Given the description of an element on the screen output the (x, y) to click on. 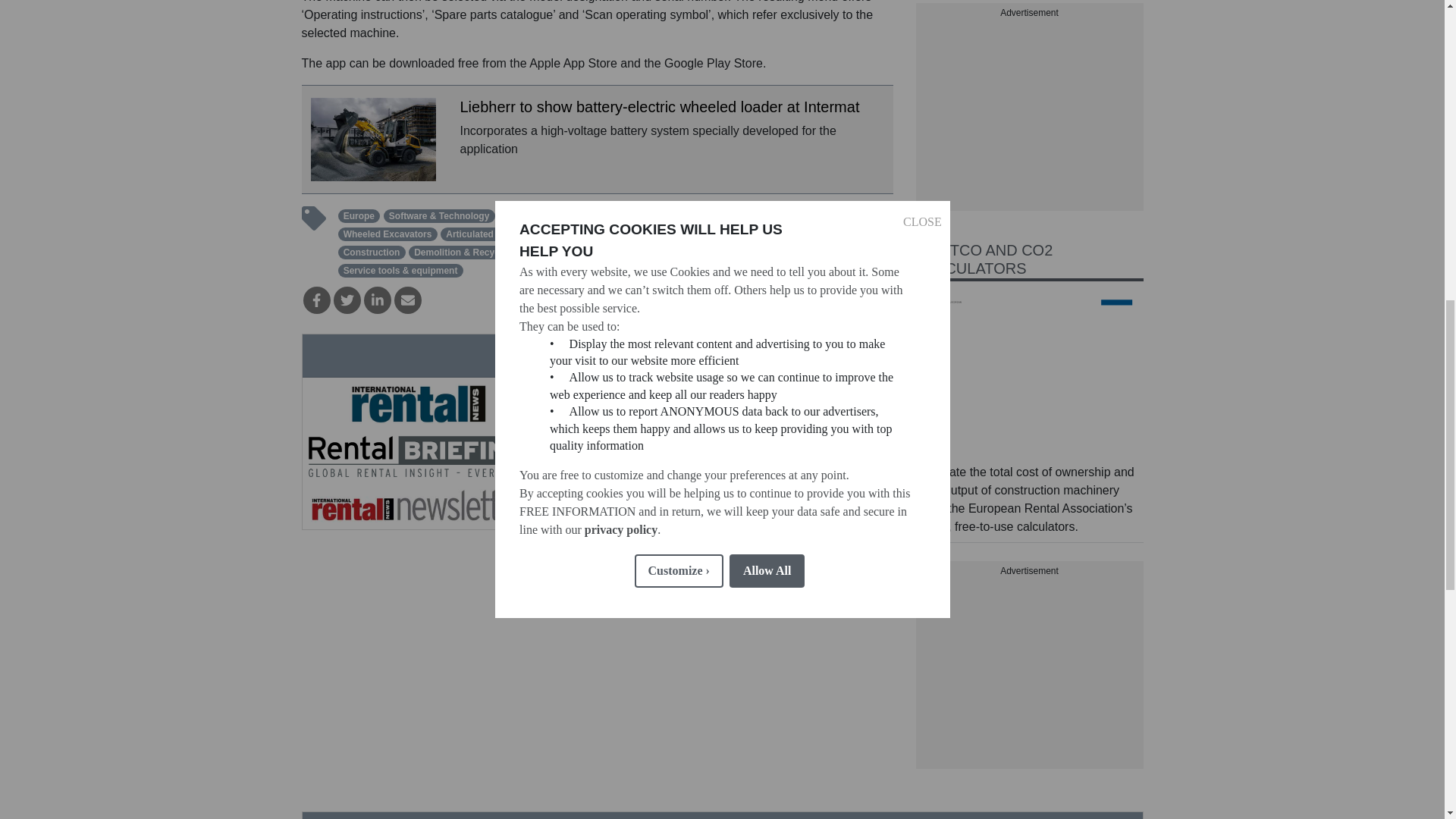
Share this page on Twitter (347, 299)
privacy policy (619, 197)
Share this page via email (408, 299)
Share this page on Facebook (316, 299)
3rd party ad content (1028, 674)
Share this page on Linkedin (377, 299)
Allow All (767, 151)
3rd party ad content (1028, 115)
